Given the description of an element on the screen output the (x, y) to click on. 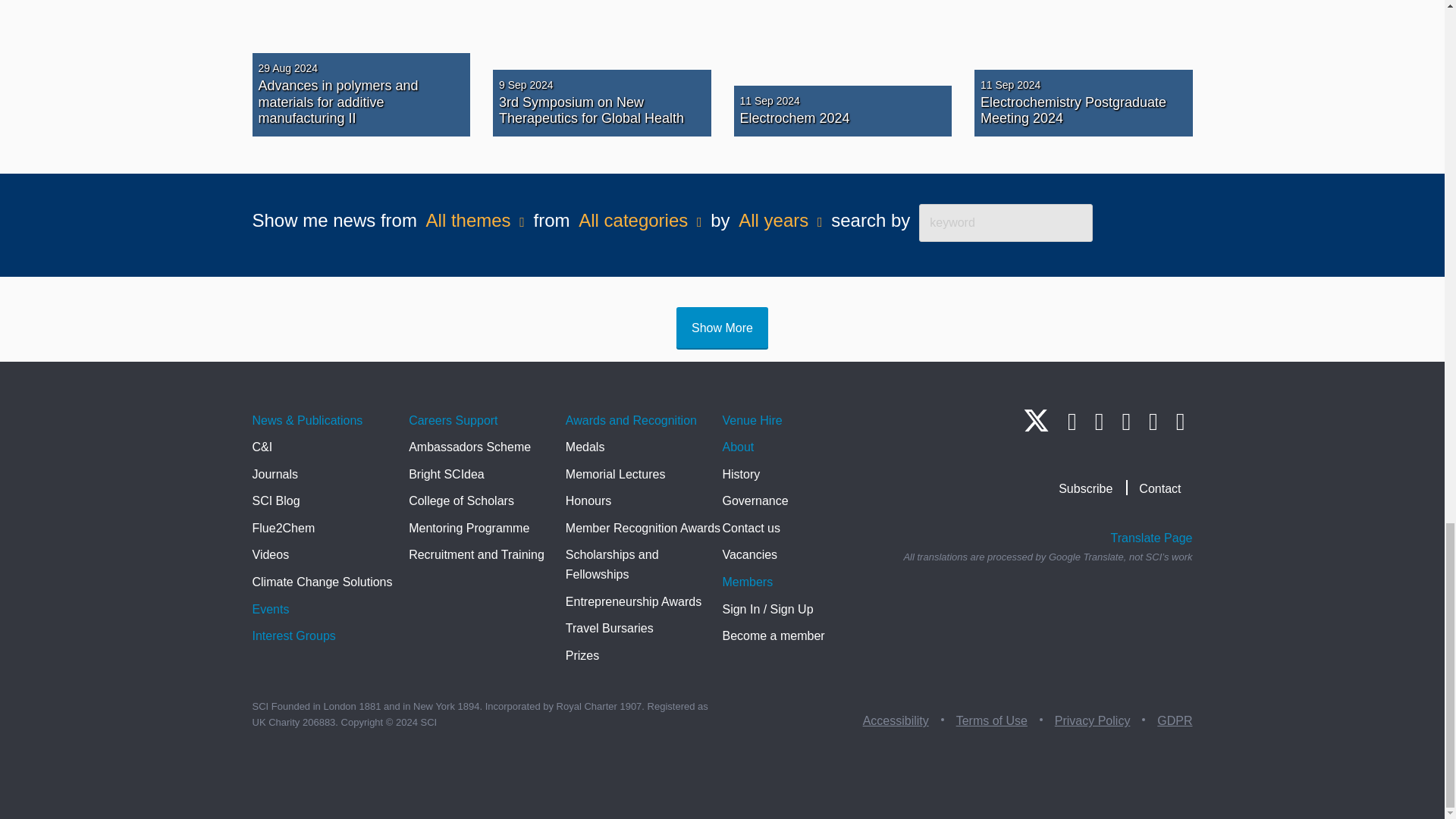
Facebook (1126, 421)
Instagram (1098, 421)
LinkedIn (1072, 421)
Twitter (1036, 427)
